Given the description of an element on the screen output the (x, y) to click on. 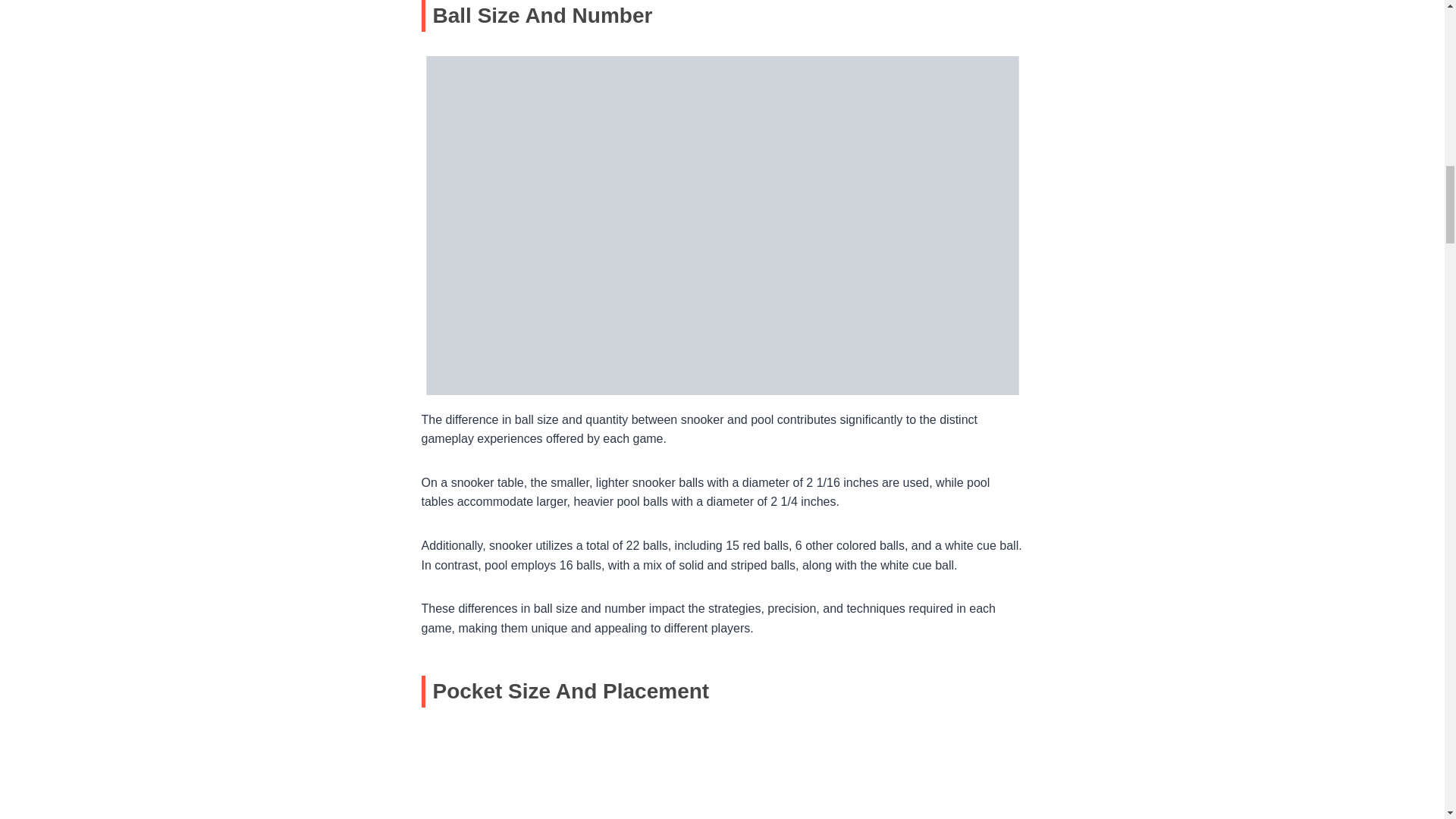
YouTube video player (722, 775)
